Given the description of an element on the screen output the (x, y) to click on. 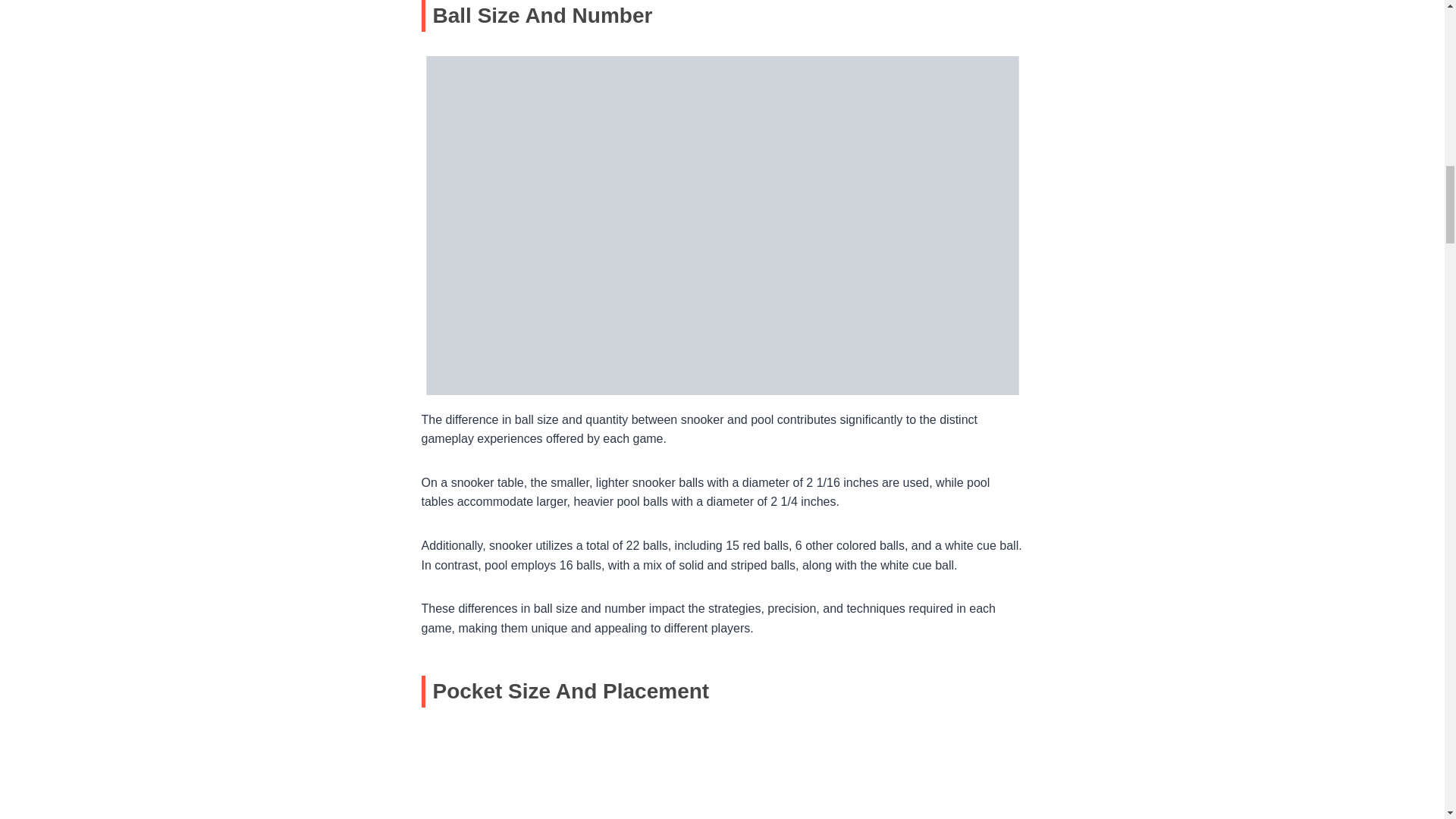
YouTube video player (722, 775)
